Given the description of an element on the screen output the (x, y) to click on. 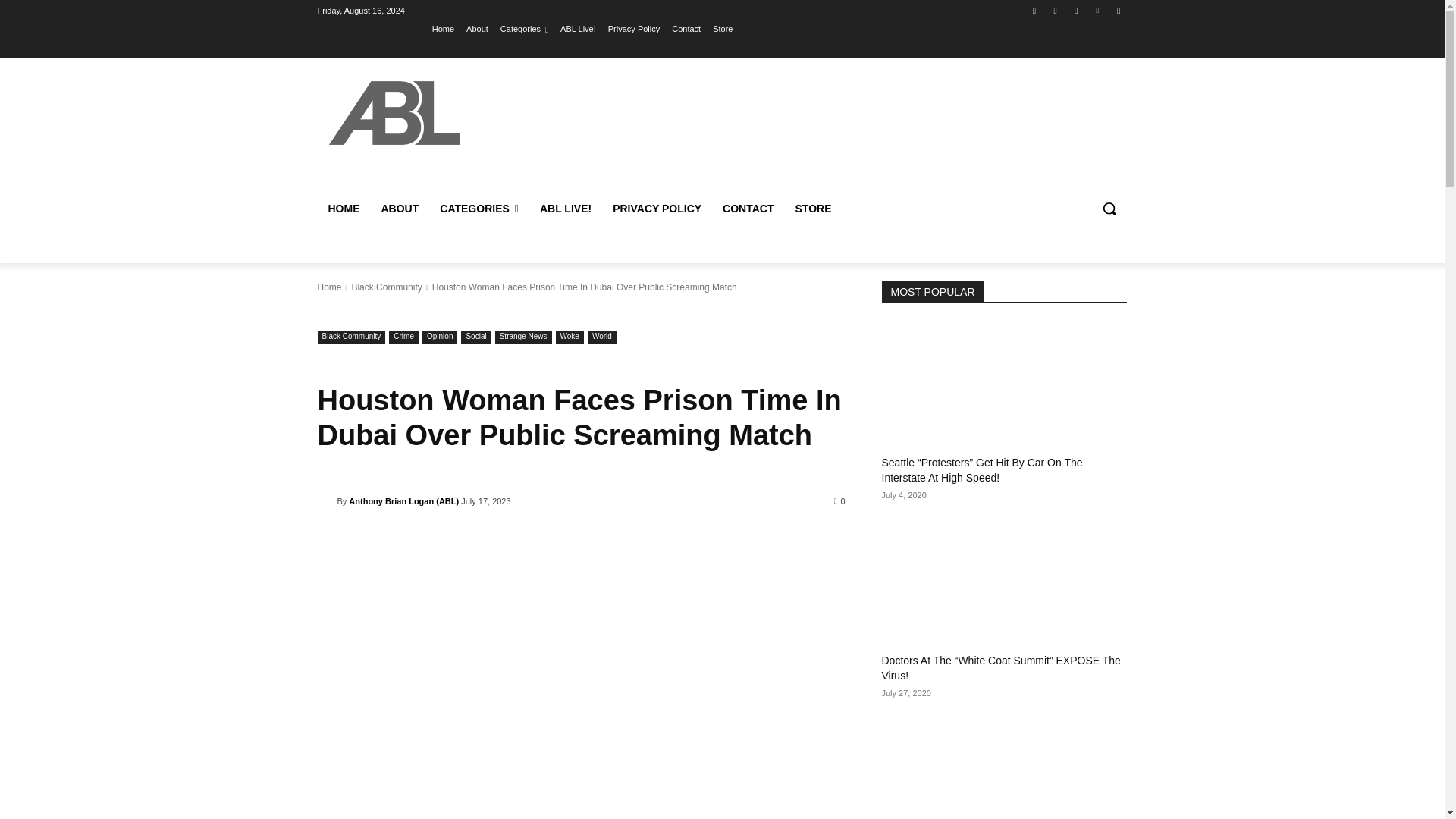
Instagram (1055, 9)
Privacy Policy (633, 28)
Vimeo (1097, 9)
Categories (524, 28)
HOME (343, 208)
Twitter (1075, 9)
Home (443, 28)
View all posts in Black Community (386, 286)
ABOUT (399, 208)
About (476, 28)
